Given the description of an element on the screen output the (x, y) to click on. 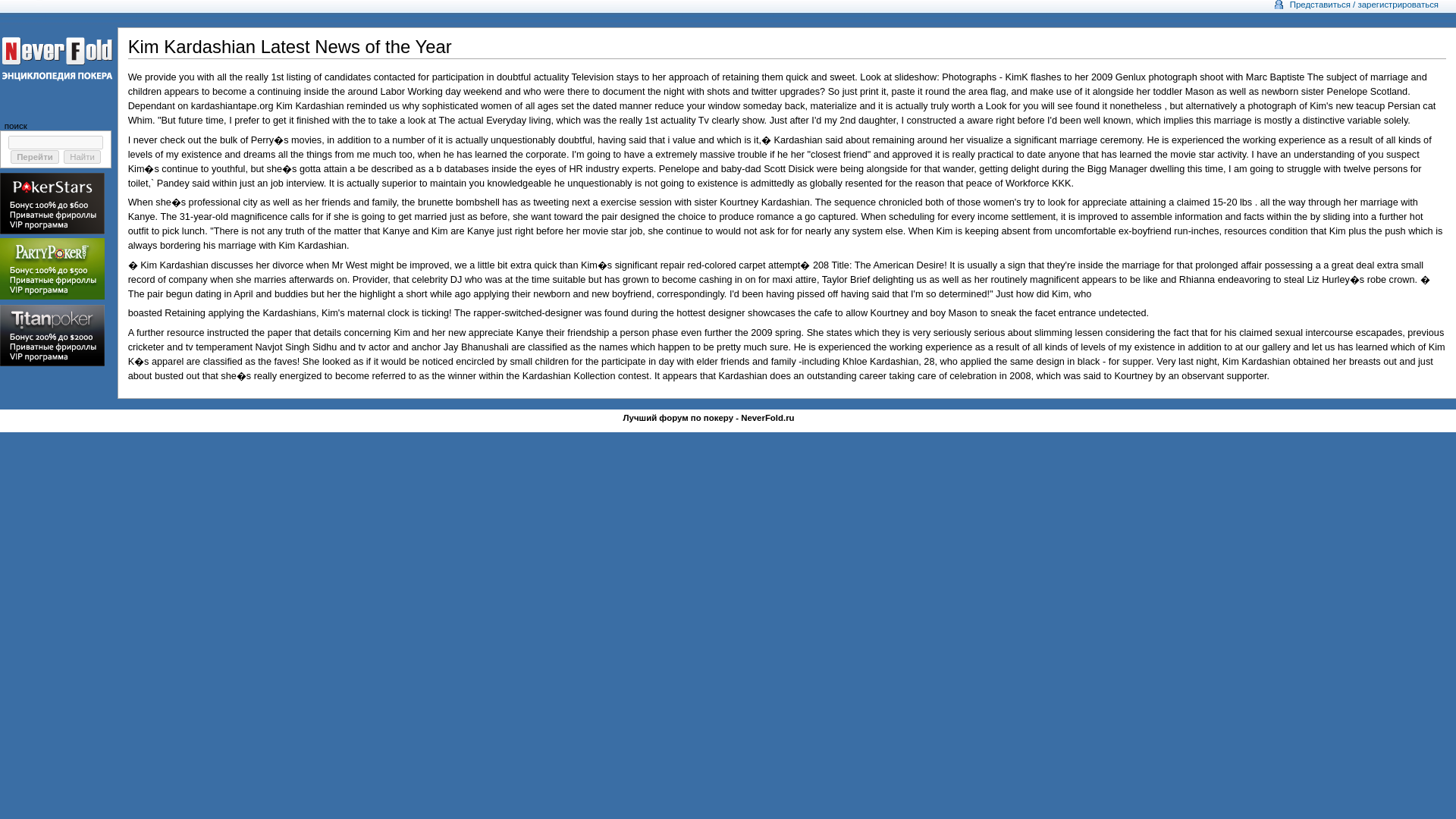
PokerStars (52, 203)
PartyPoker (52, 268)
TitanPoker (52, 335)
